Given the description of an element on the screen output the (x, y) to click on. 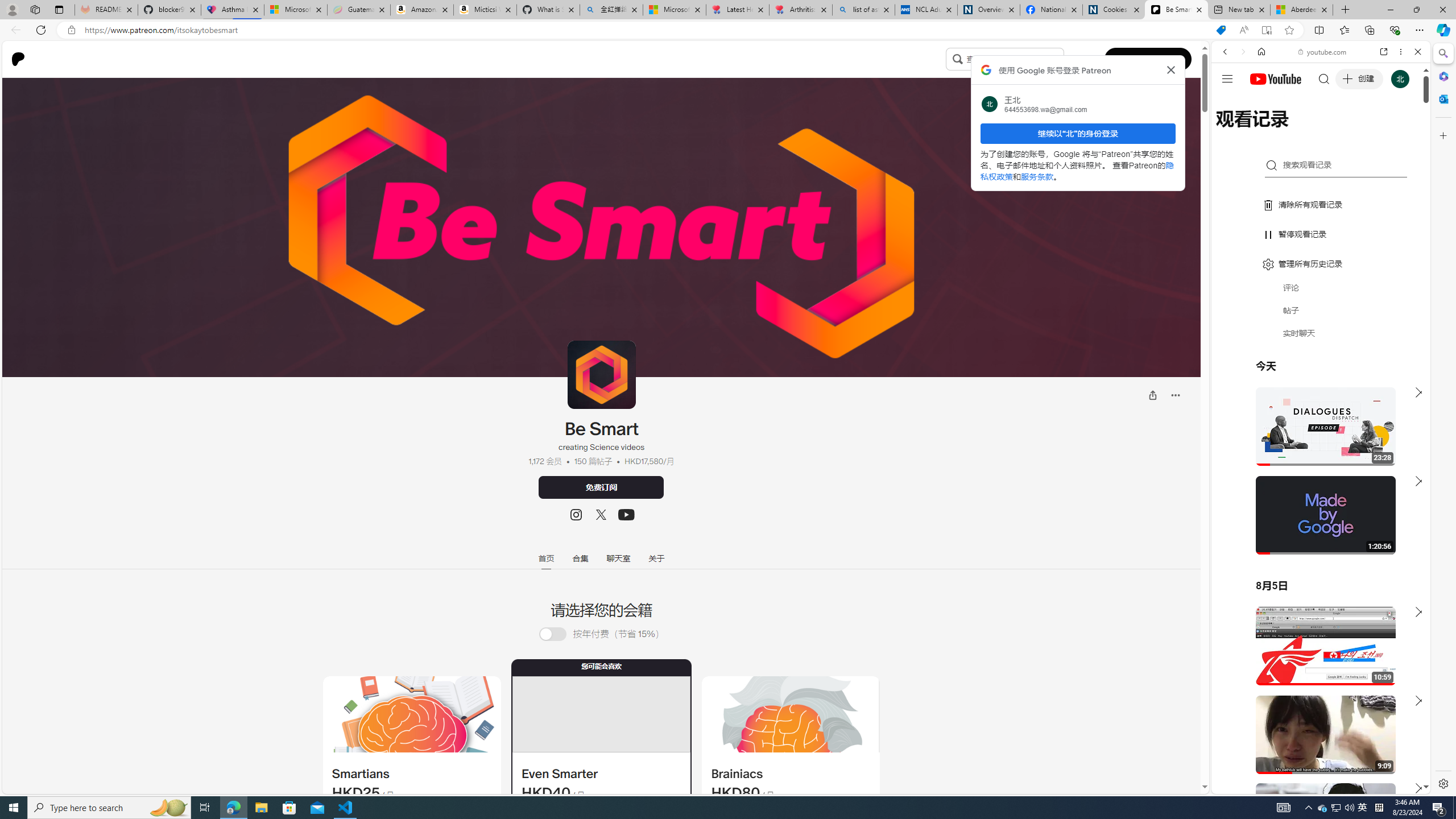
Class: Bz112c Bz112c-r9oPif (1170, 69)
